Given the description of an element on the screen output the (x, y) to click on. 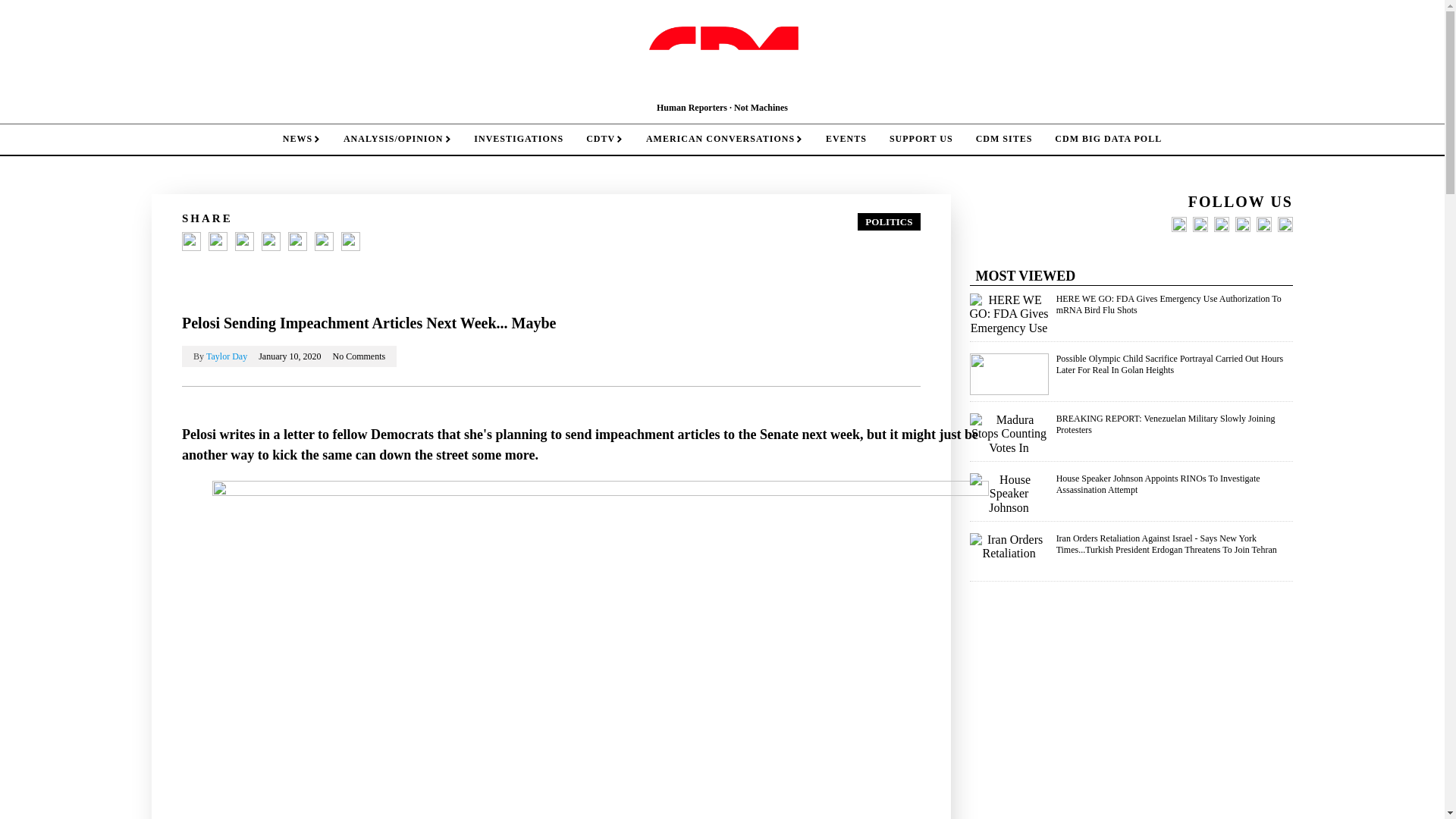
AMERICAN CONVERSATIONS (723, 139)
CDTV (604, 139)
INVESTIGATIONS (519, 139)
NEWS (300, 139)
